Given the description of an element on the screen output the (x, y) to click on. 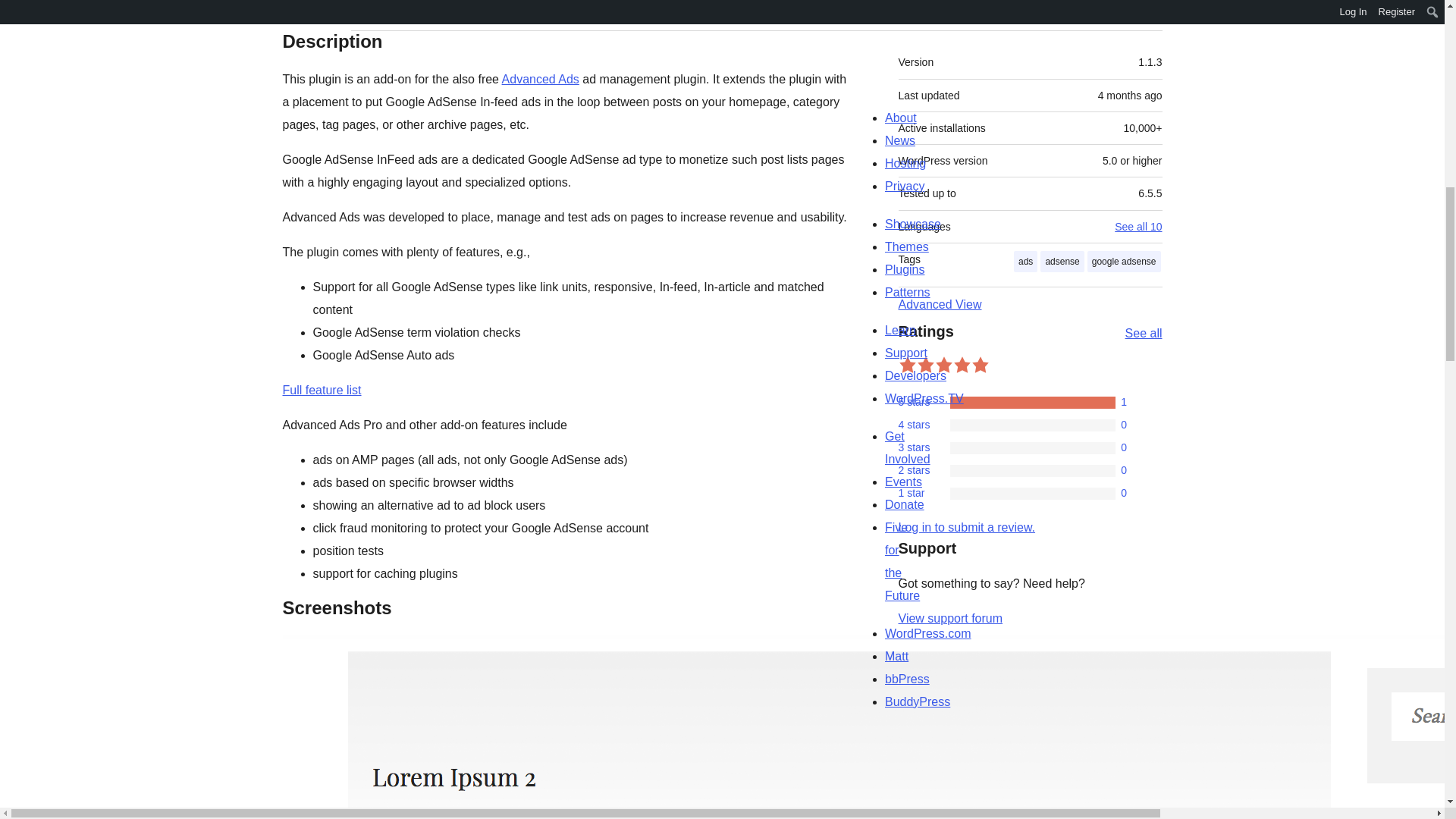
Advanced Ads (540, 78)
WordPress.org (864, 732)
Log in to WordPress.org (966, 526)
Details (316, 15)
Development (487, 15)
Full feature list (321, 390)
Support (1132, 15)
WordPress.org (1014, 732)
Reviews (392, 15)
